Given the description of an element on the screen output the (x, y) to click on. 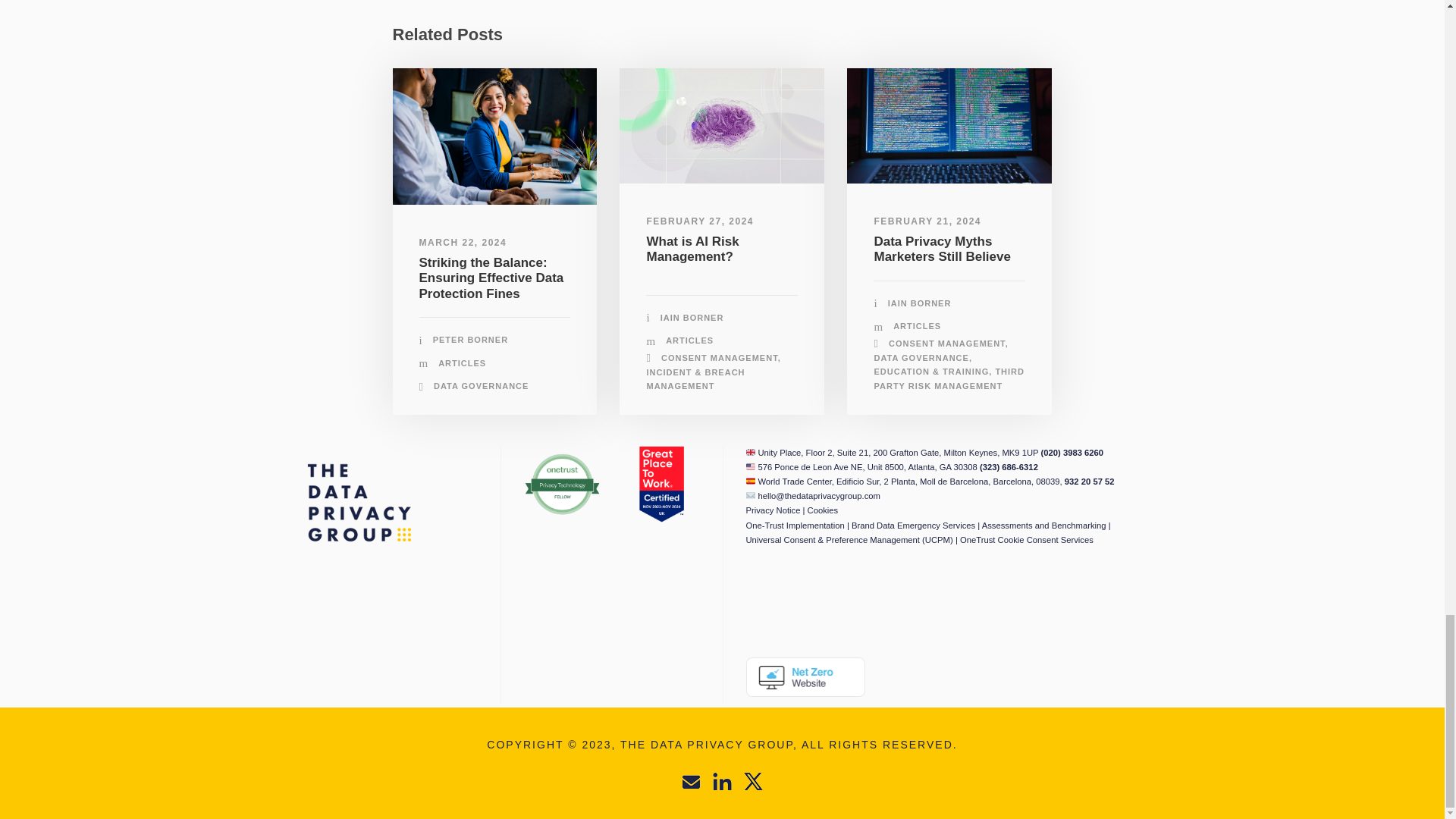
Posts by Peter Borner (470, 338)
data-governance (494, 135)
pexels-google-deepmind-17483868 (722, 125)
